Given the description of an element on the screen output the (x, y) to click on. 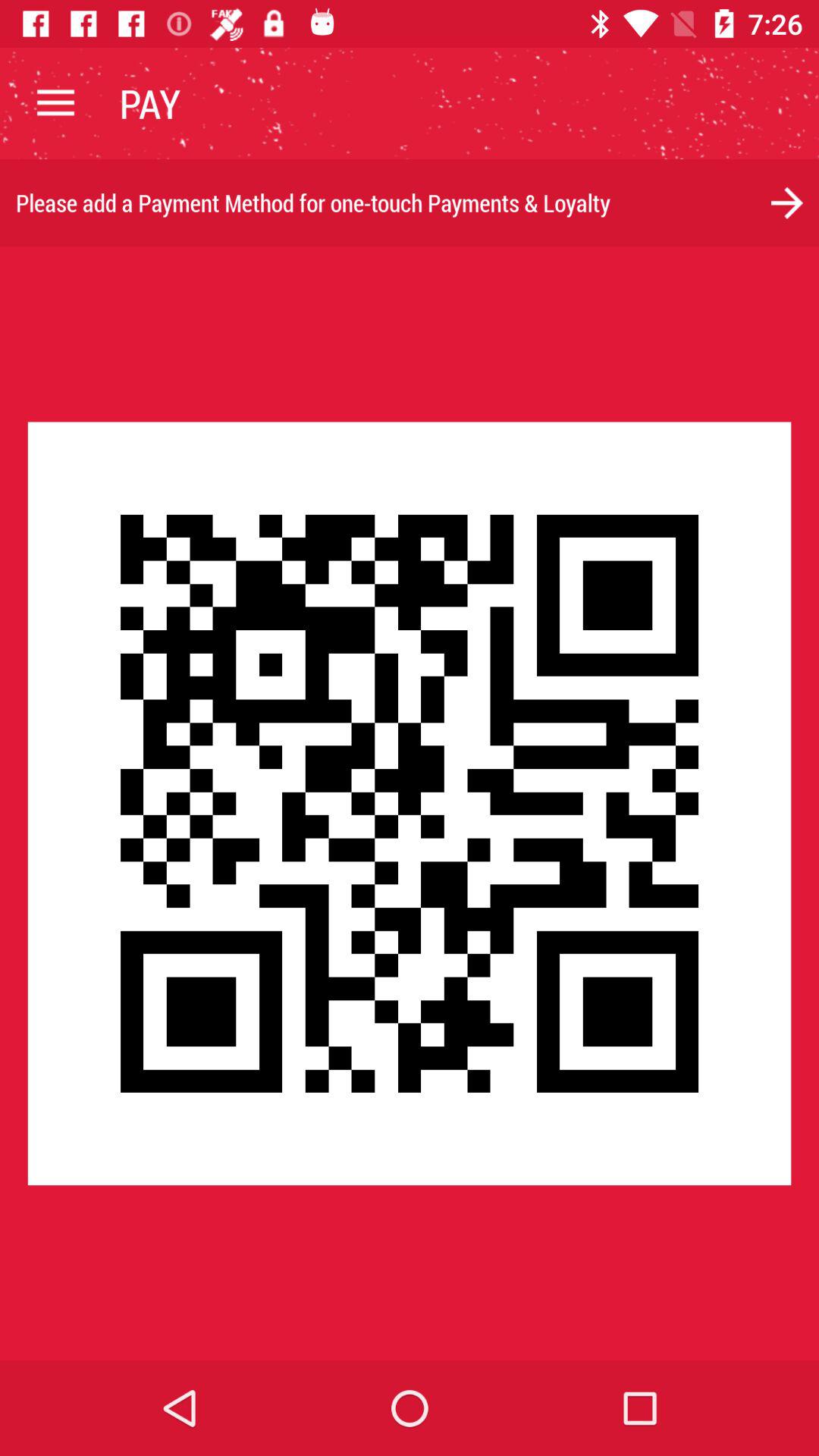
select the item above please add a (55, 103)
